Given the description of an element on the screen output the (x, y) to click on. 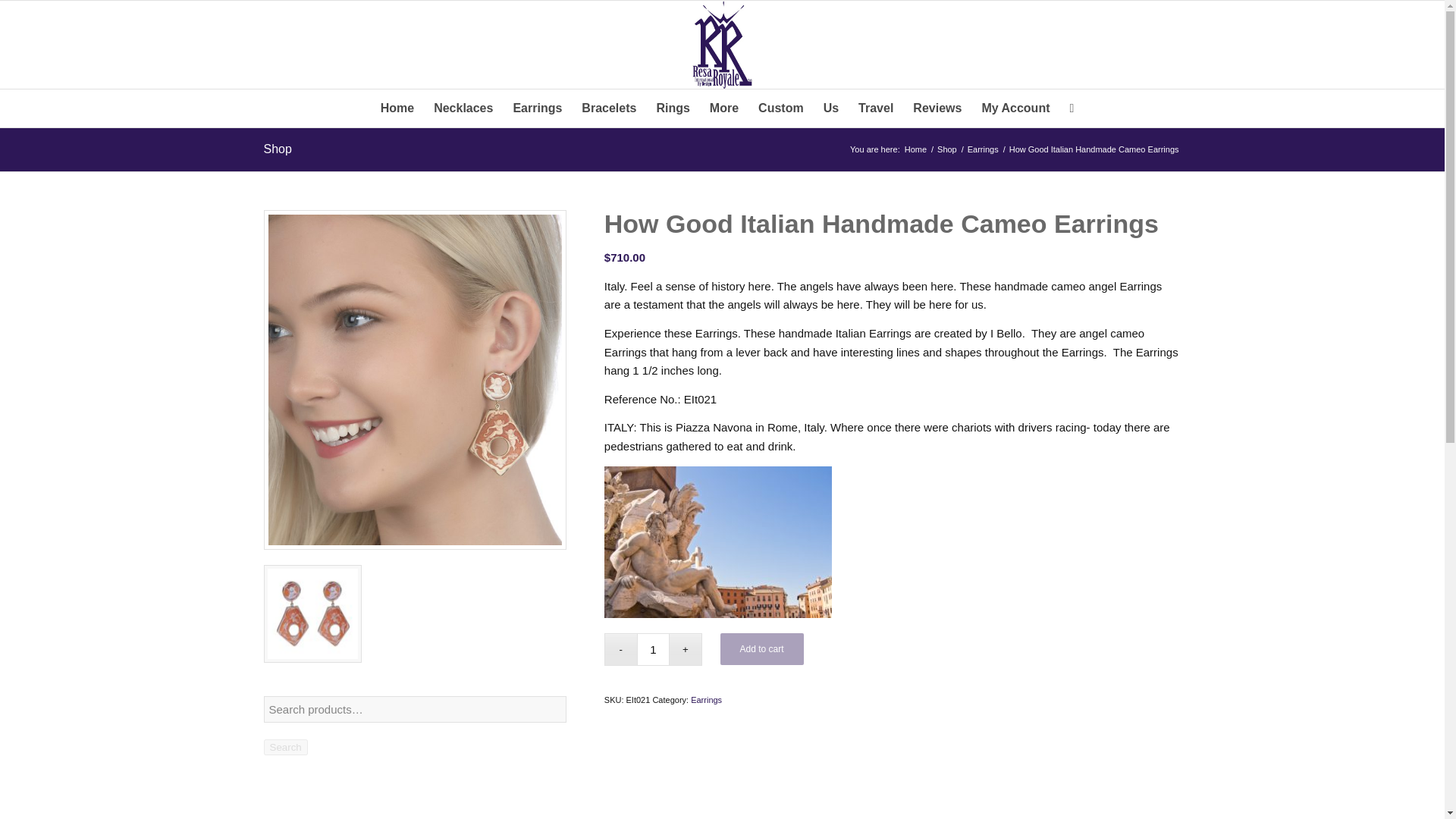
Custom (780, 108)
Earrings (706, 699)
- (620, 649)
Earrings (983, 149)
Add to cart (761, 649)
Resa Royale (915, 149)
Reviews (936, 108)
Home (397, 108)
Travel (875, 108)
1 (653, 649)
Earrings (983, 149)
Home (915, 149)
Permanent Link: Shop (277, 148)
Search (285, 747)
Bracelets (609, 108)
